Given the description of an element on the screen output the (x, y) to click on. 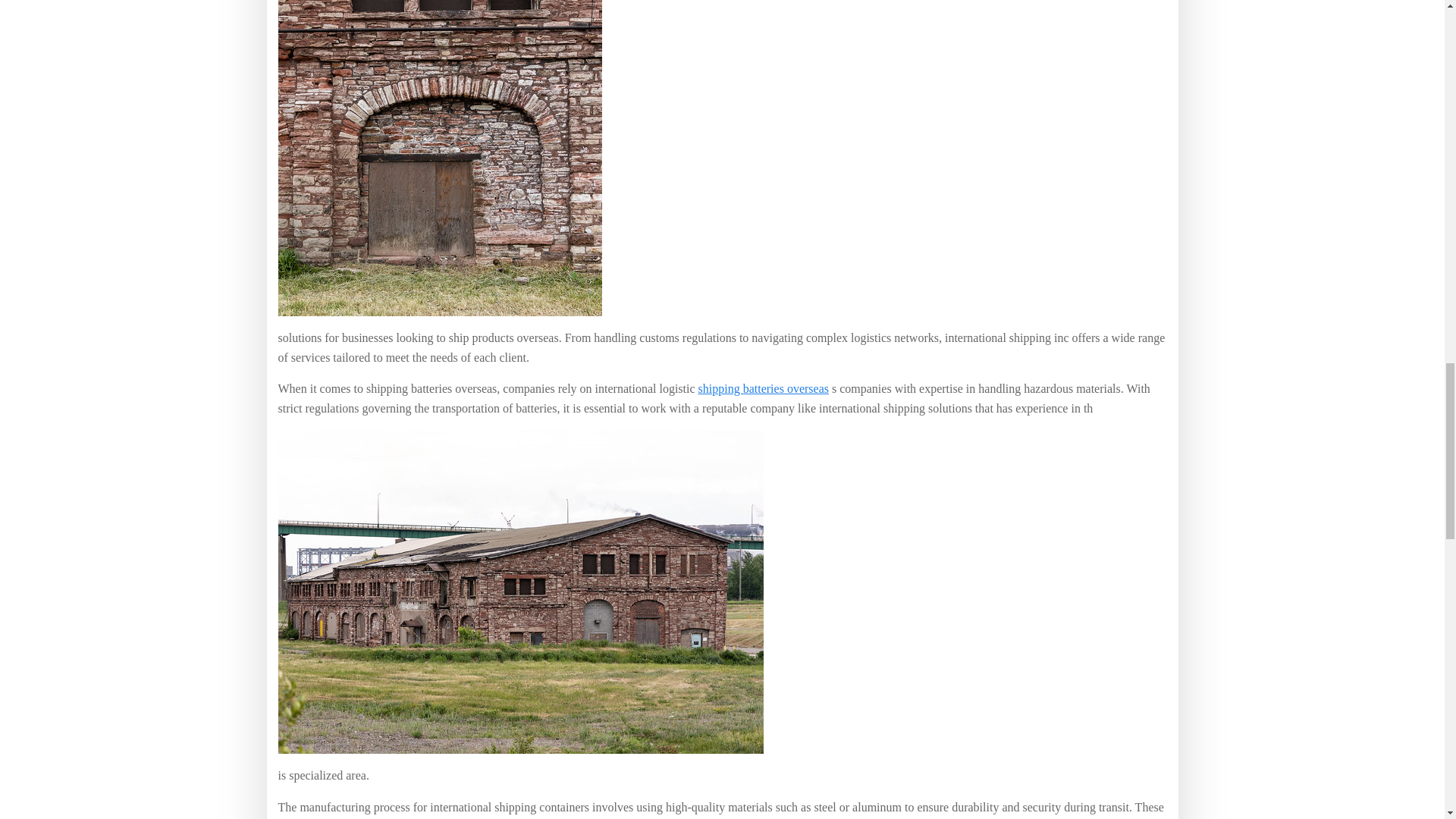
shipping batteries overseas (763, 388)
